Given the description of an element on the screen output the (x, y) to click on. 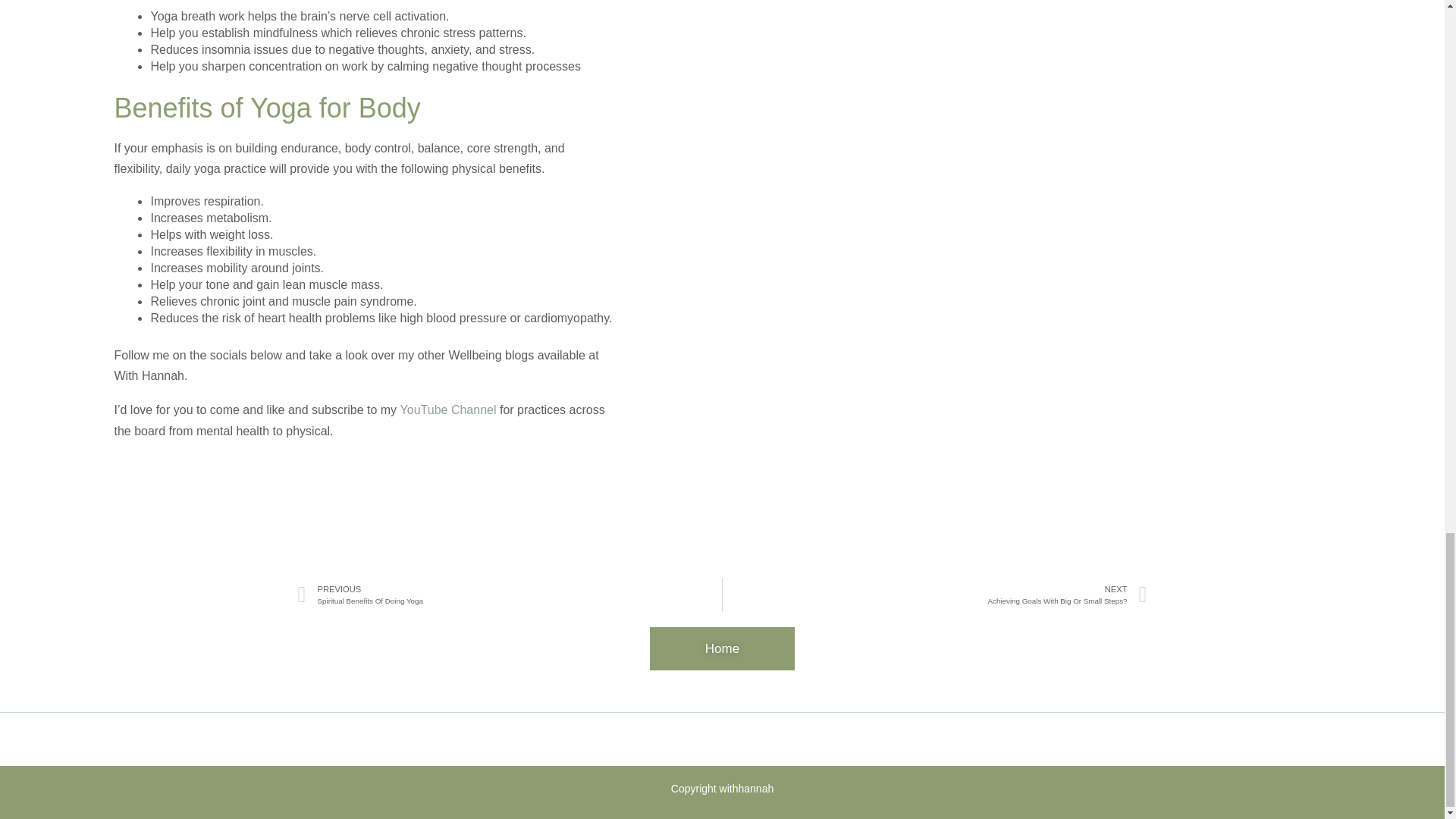
withhannah (746, 788)
YouTube Channel (509, 594)
Home (448, 409)
